Given the description of an element on the screen output the (x, y) to click on. 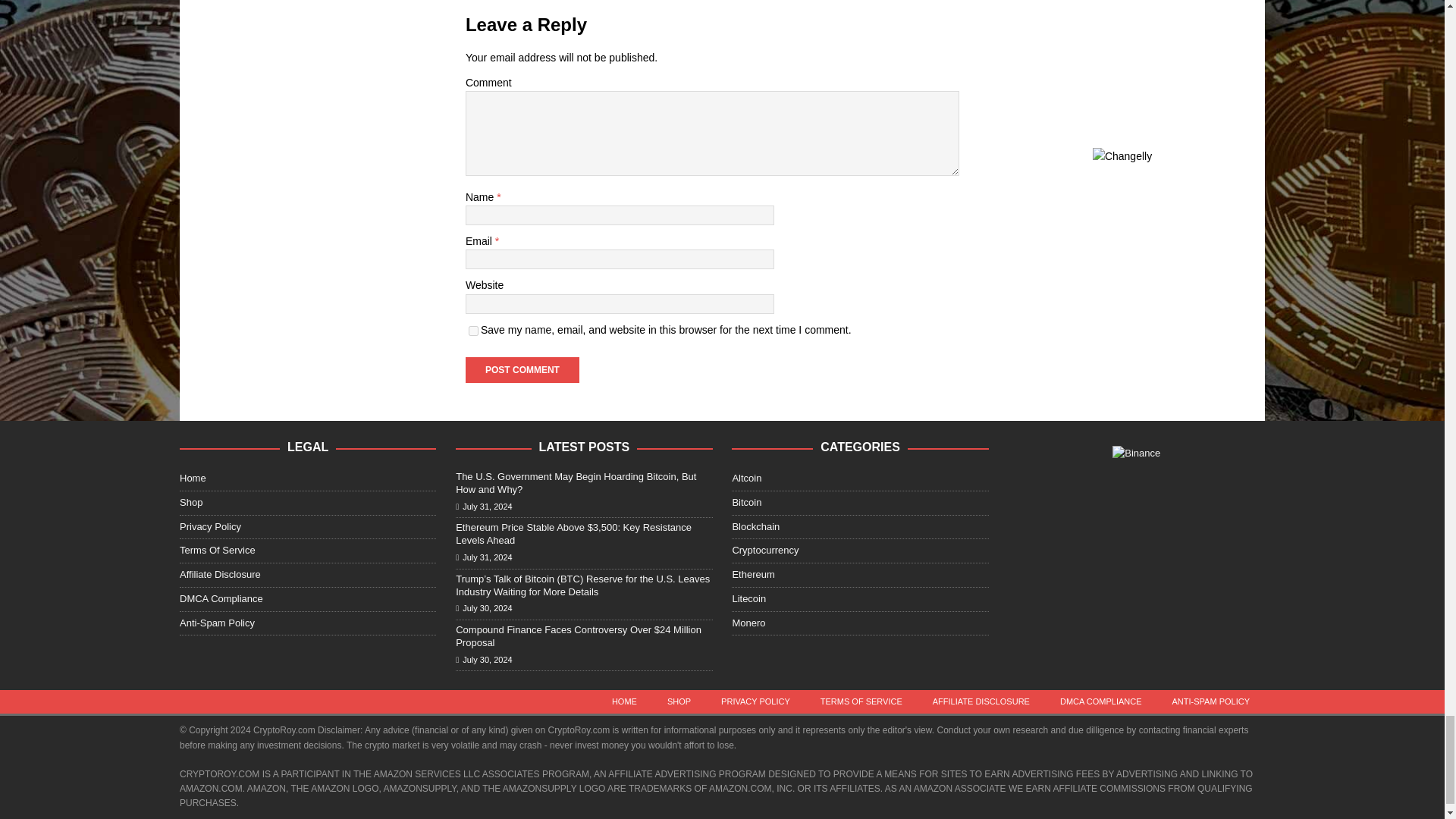
Post Comment (522, 370)
yes (473, 330)
